Given the description of an element on the screen output the (x, y) to click on. 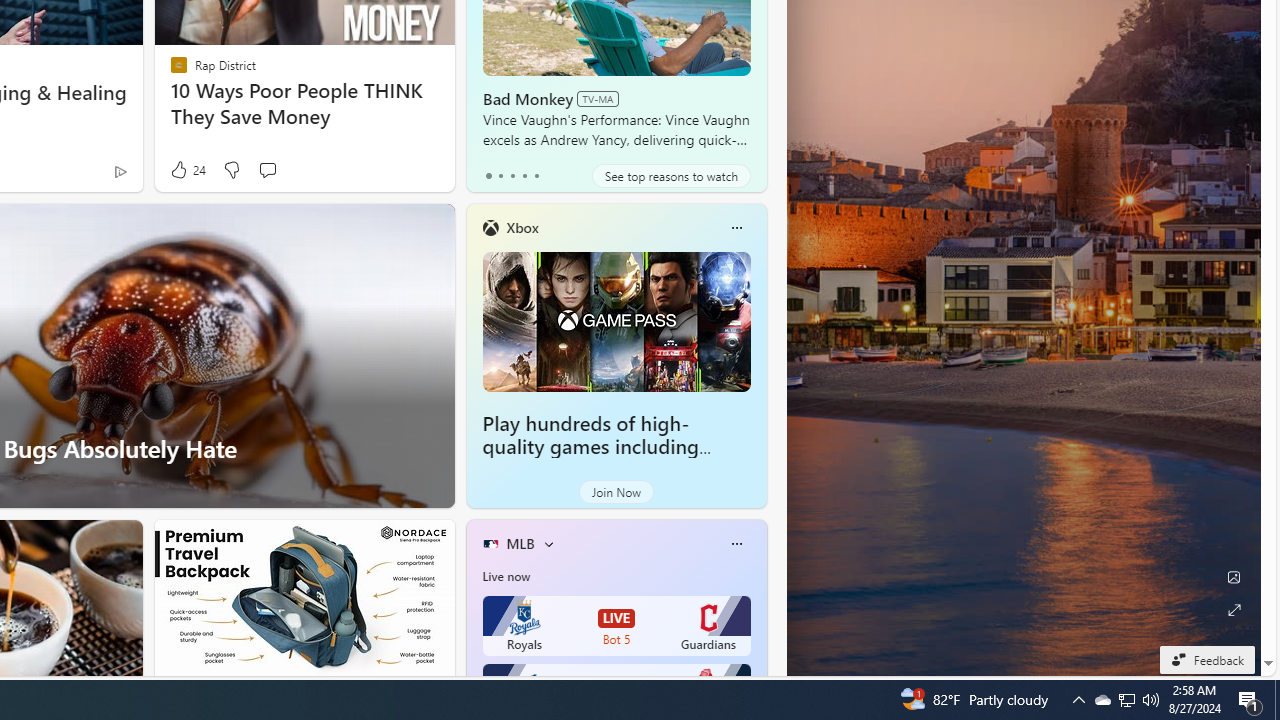
tab-0 (488, 175)
Feedback (1206, 659)
MLB (520, 543)
tab-3 (524, 175)
Xbox (521, 227)
See top reasons to watch (671, 175)
Ad Choice (119, 171)
Start the conversation (267, 169)
